Given the description of an element on the screen output the (x, y) to click on. 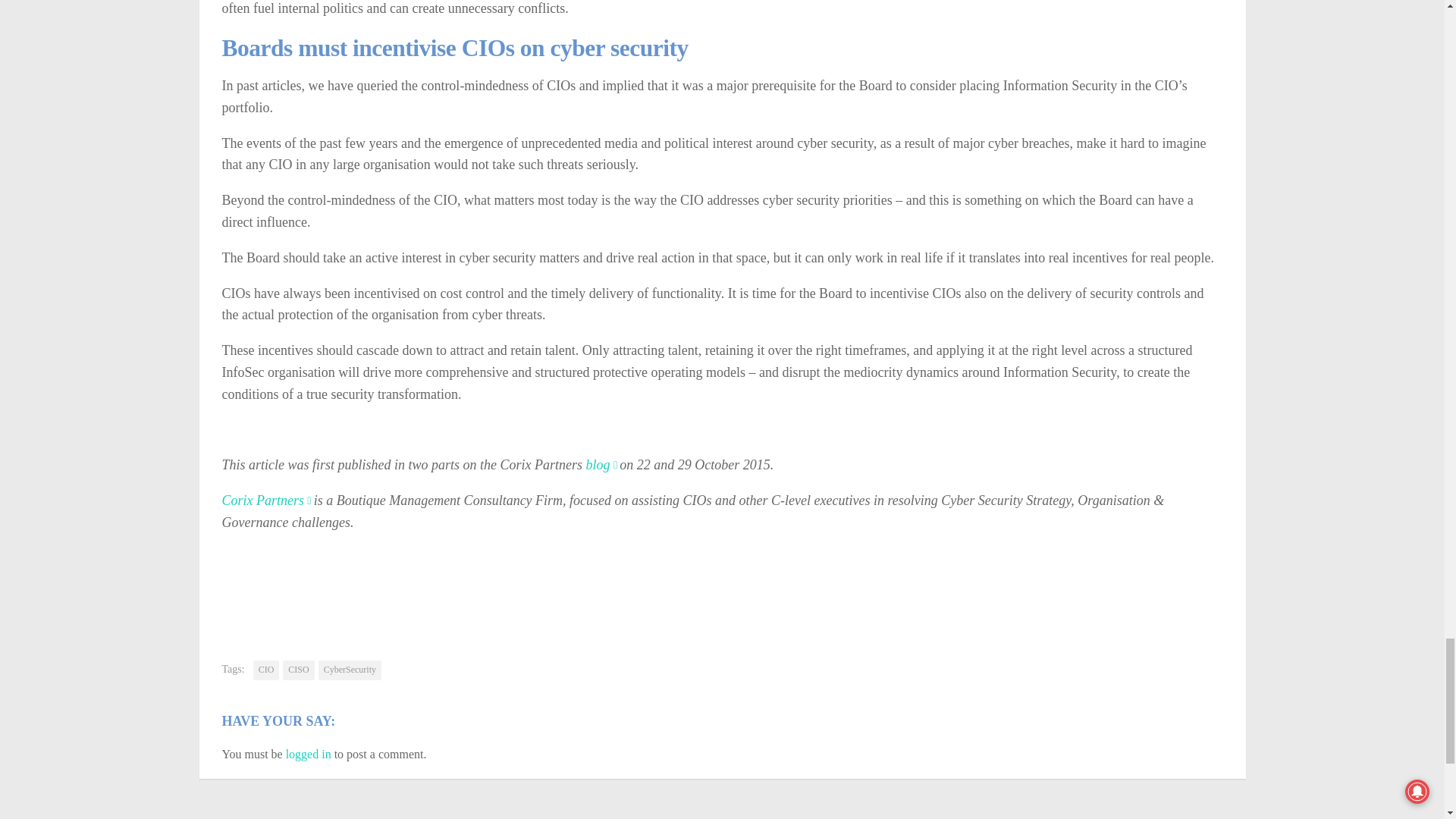
Corix Partners (265, 500)
blog (600, 464)
CIO (266, 670)
